Given the description of an element on the screen output the (x, y) to click on. 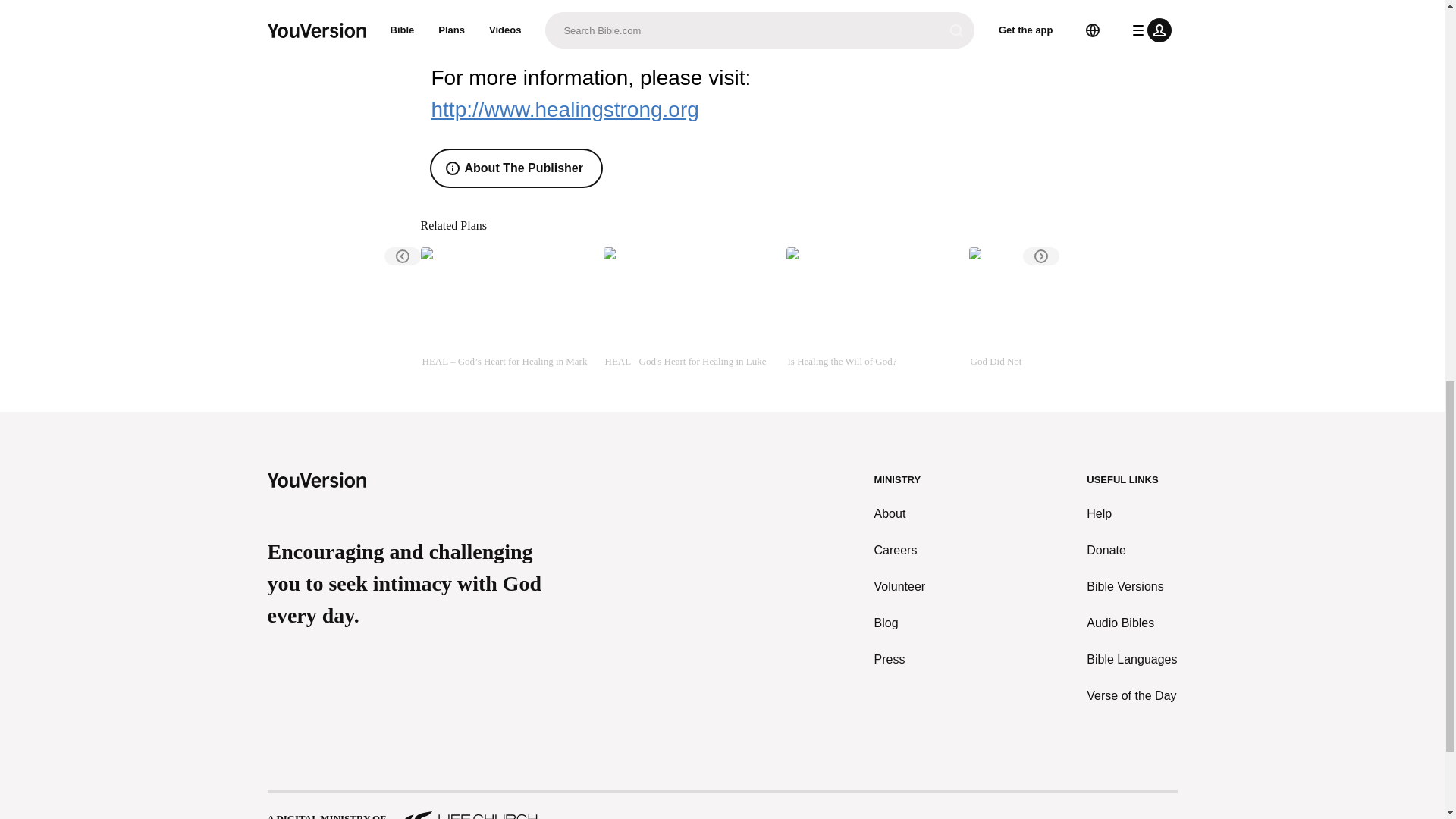
Help (1131, 514)
A DIGITAL MINISTRY OF (721, 806)
Bible Versions (1131, 587)
Donate (1131, 550)
God Did Not Do This To Me: Faith Heals (1054, 308)
Audio Bibles (1131, 623)
Press (900, 659)
HEAL - God's Heart for Healing in Luke (689, 308)
Is Healing the Will of God? (871, 308)
Blog (900, 623)
